Given the description of an element on the screen output the (x, y) to click on. 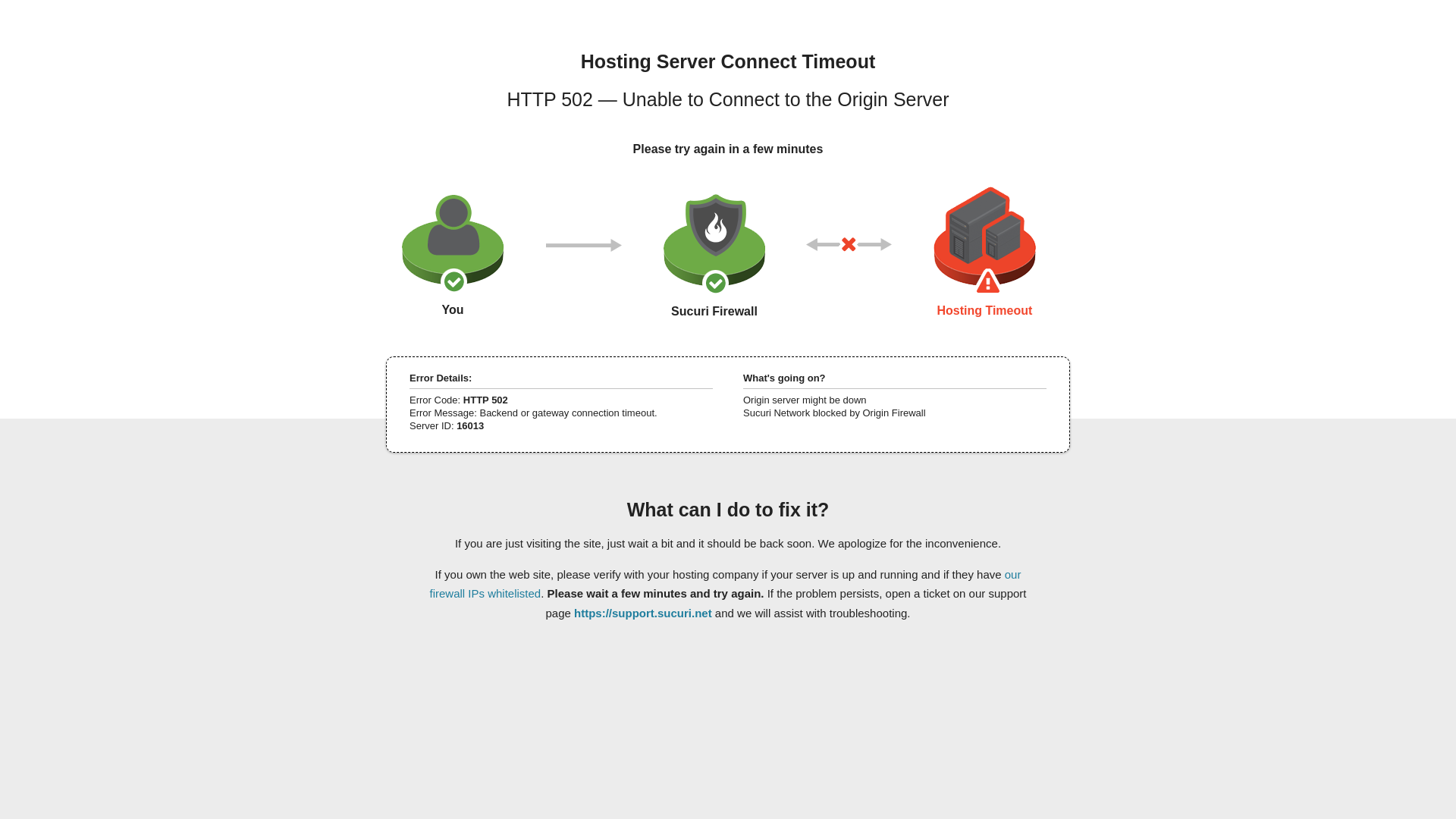
our firewall IPs whitelisted (724, 583)
